Given the description of an element on the screen output the (x, y) to click on. 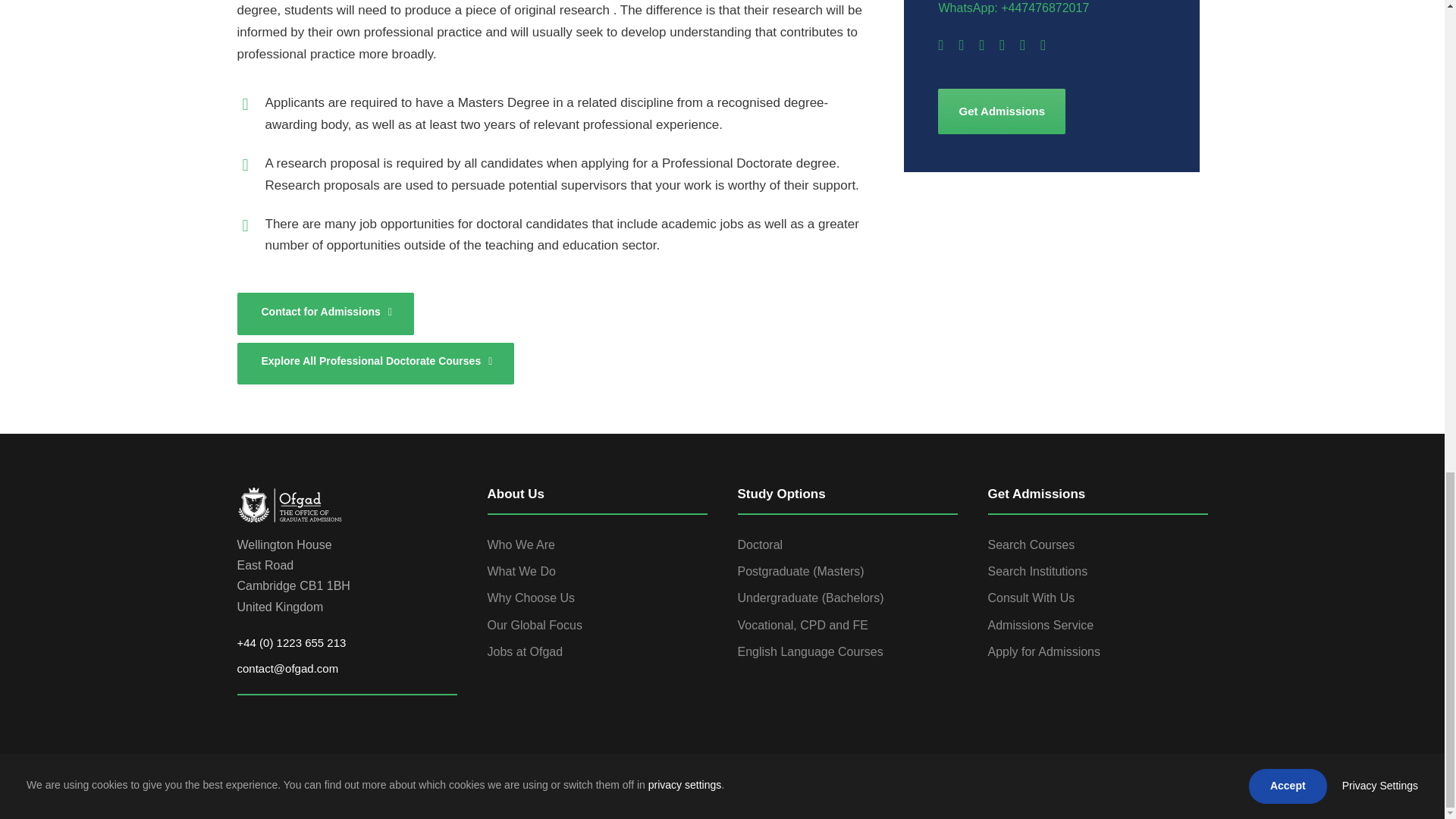
facebook (940, 44)
instagram (1043, 44)
skype (1001, 44)
twitter (1022, 44)
google-plus (960, 44)
facebook (1102, 786)
google-plus (1123, 786)
linkedin (981, 44)
